Given the description of an element on the screen output the (x, y) to click on. 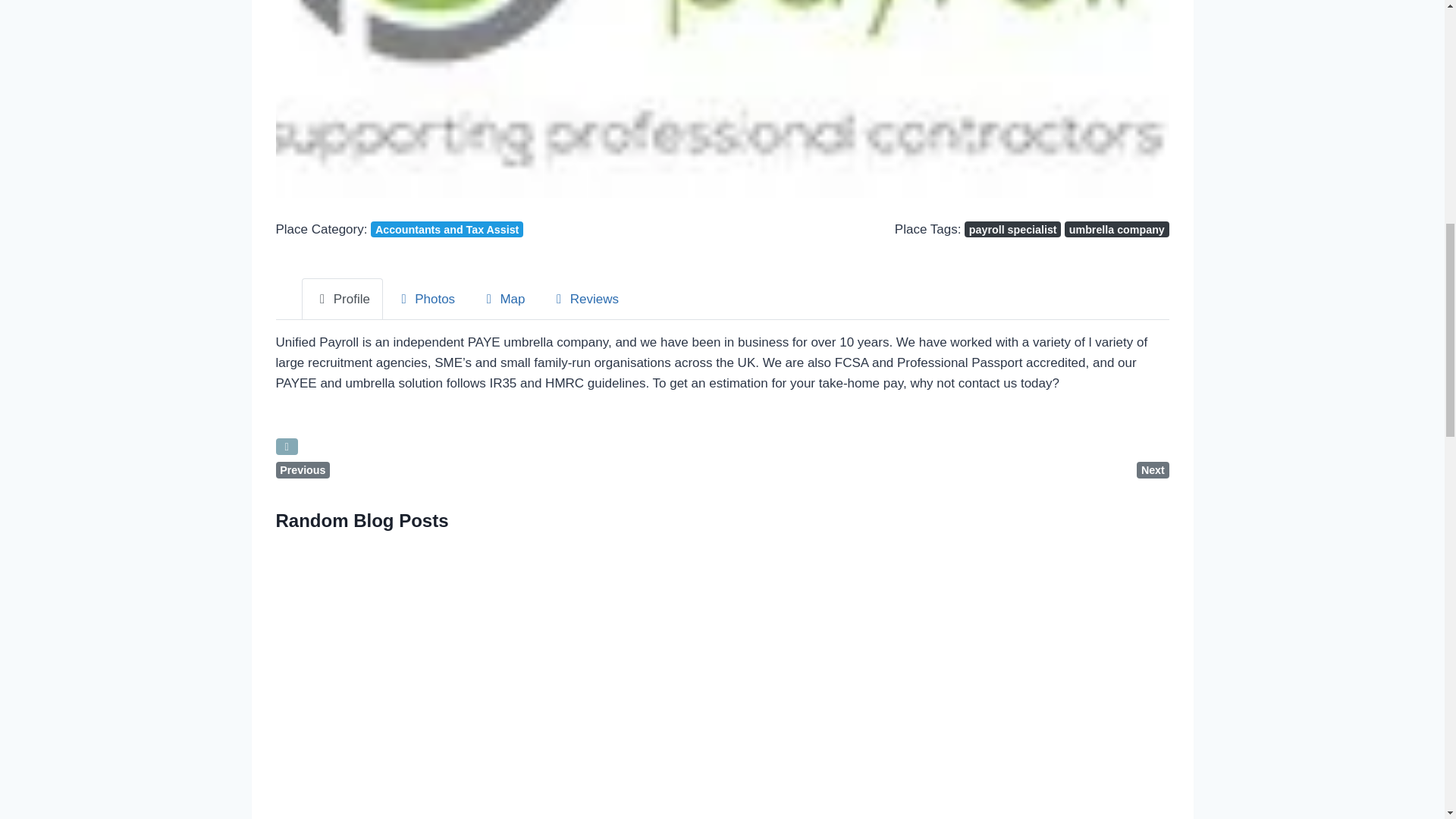
Profile (341, 299)
Reviews (584, 299)
Reviews (584, 299)
payroll specialist (1012, 229)
Photos (424, 299)
Map (502, 299)
Profile (341, 299)
Accountants and Tax Assist (446, 229)
umbrella company (1116, 229)
Map (502, 299)
